Given the description of an element on the screen output the (x, y) to click on. 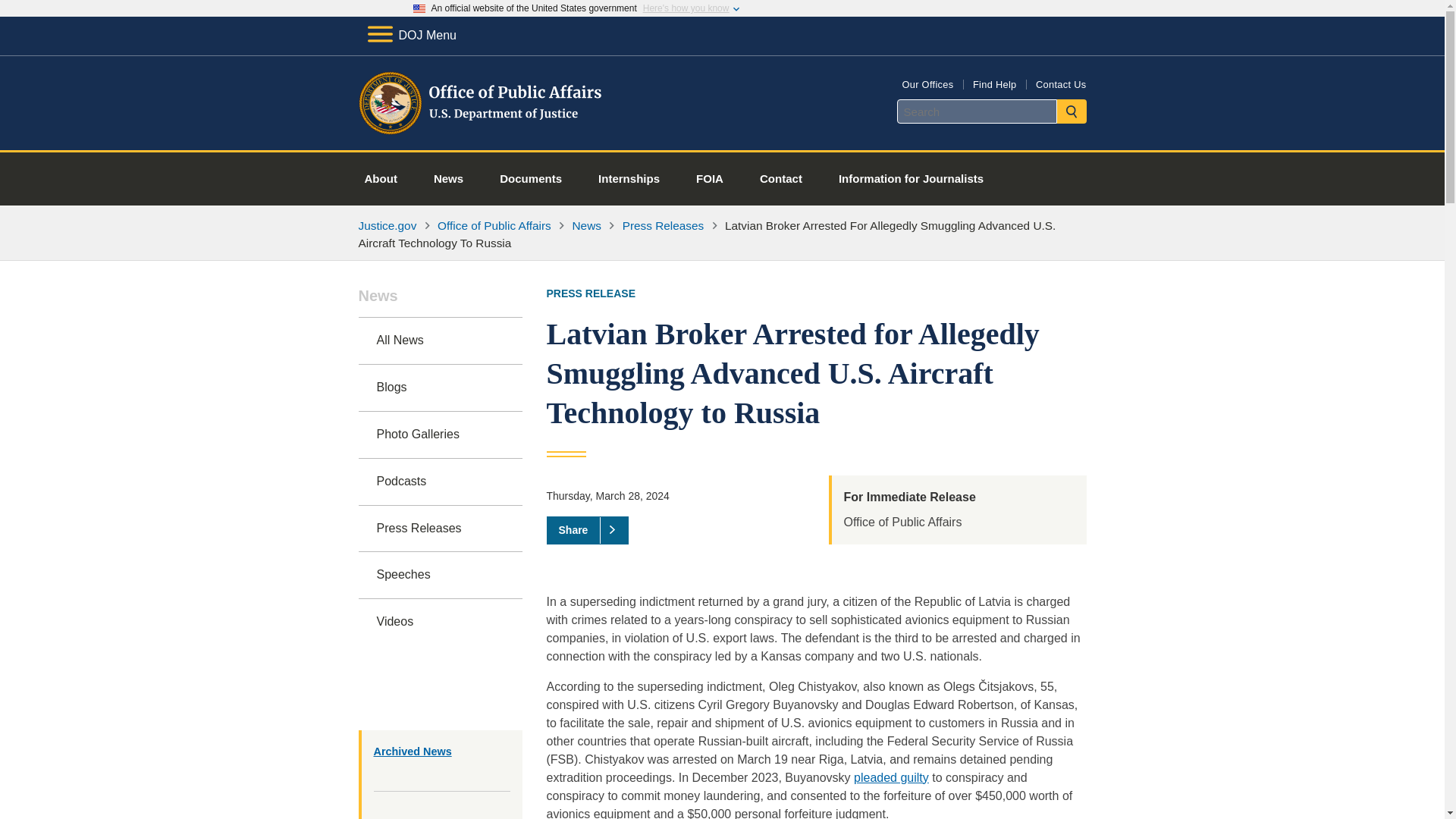
Here's how you know (686, 8)
Press Releases (663, 225)
News (439, 302)
DOJ Menu (411, 35)
Contact (781, 179)
Our Offices (927, 84)
All News (439, 340)
Podcasts (439, 481)
Justice.gov (387, 225)
Office of Public Affairs (494, 225)
